Given the description of an element on the screen output the (x, y) to click on. 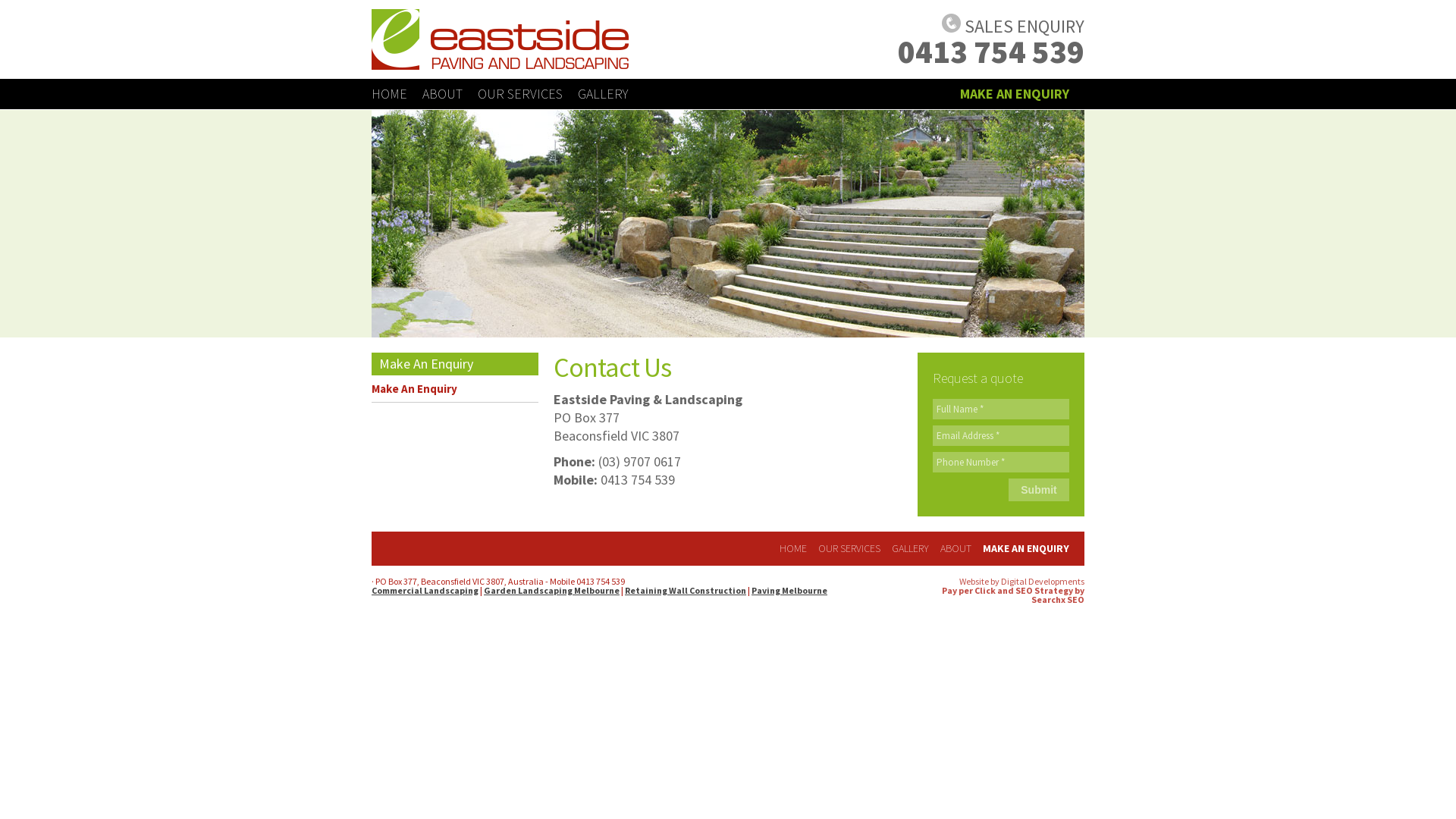
Pay per Click and SEO Element type: text (986, 590)
OUR SERVICES Element type: text (519, 93)
Submit Element type: text (1038, 489)
MAKE AN ENQUIRY Element type: text (1014, 93)
Make An Enquiry Element type: text (454, 388)
ABOUT Element type: text (442, 93)
GALLERY Element type: text (602, 93)
Retaining Wall Construction Element type: text (685, 590)
HOME Element type: text (792, 548)
Paving Melbourne Element type: text (789, 590)
Commercial Landscaping Element type: text (424, 590)
MAKE AN ENQUIRY Element type: text (1025, 548)
Strategy by Searchx SEO Element type: text (1057, 594)
ABOUT Element type: text (955, 548)
HOME Element type: text (389, 93)
GALLERY Element type: text (909, 548)
Digital Developments Element type: text (1042, 580)
OUR SERVICES Element type: text (849, 548)
Garden Landscaping Melbourne Element type: text (551, 590)
